Given the description of an element on the screen output the (x, y) to click on. 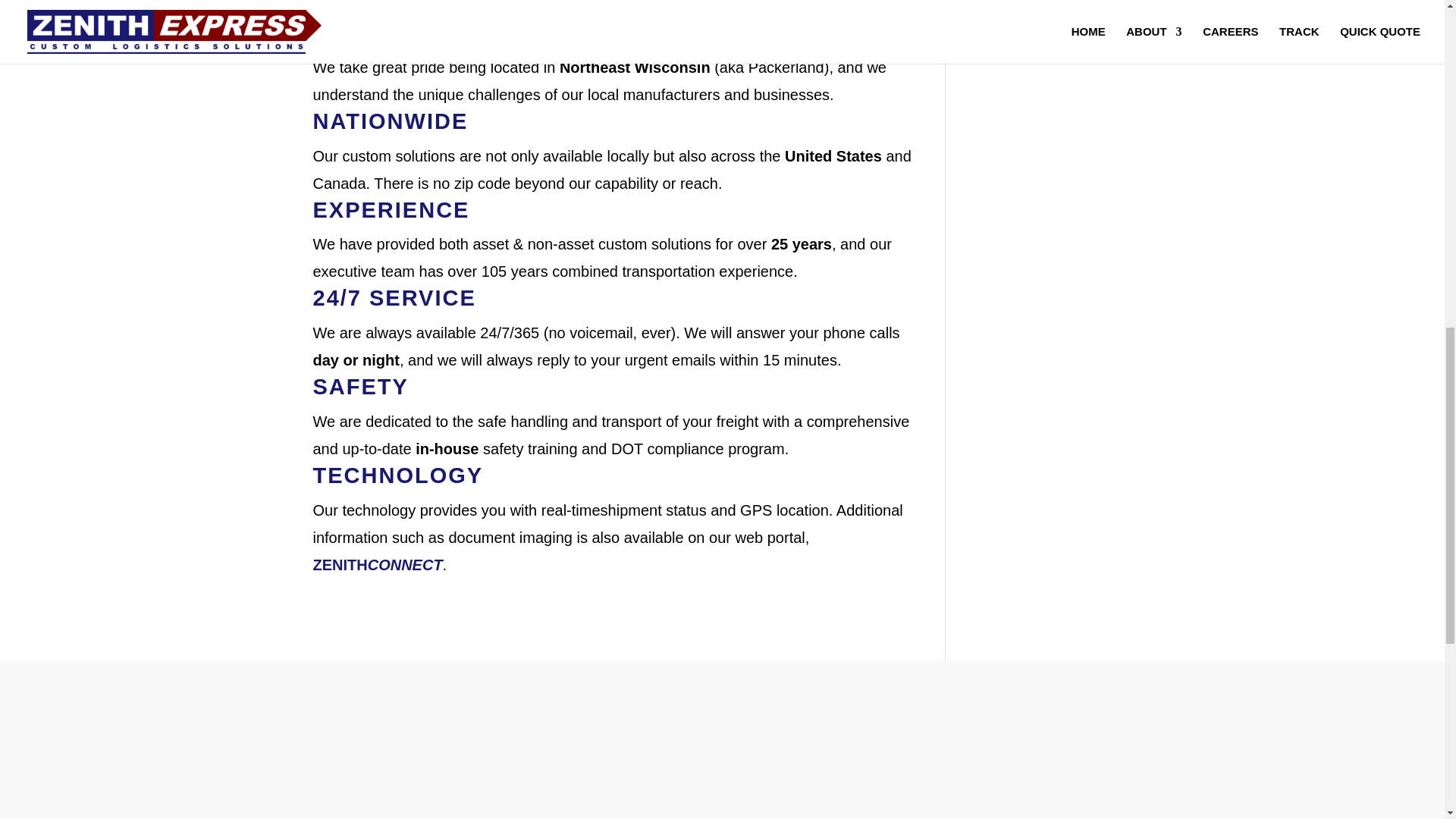
ZENITHCONNECT (377, 564)
